Given the description of an element on the screen output the (x, y) to click on. 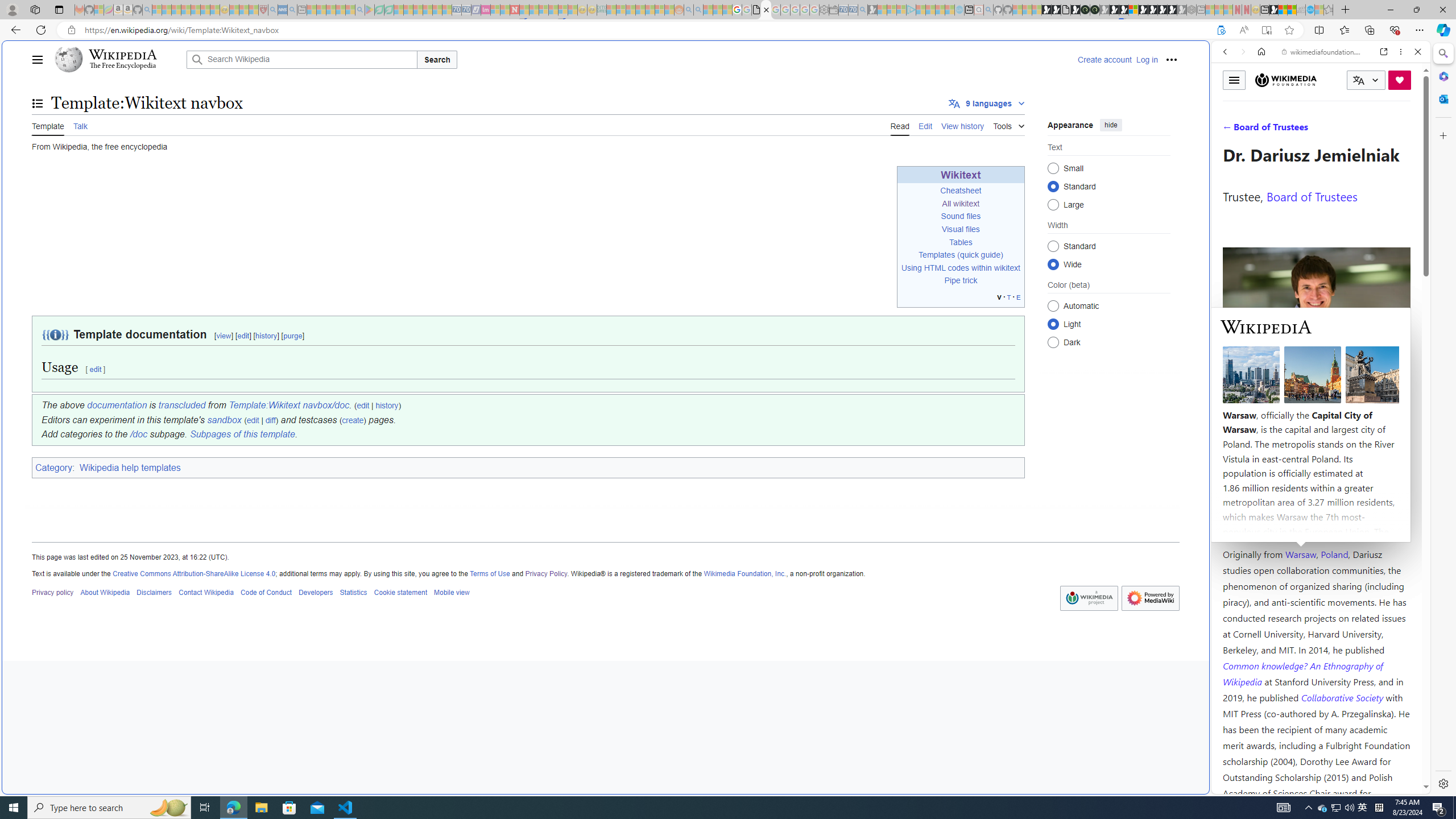
(quick guide) (979, 254)
Toggle menu (1233, 80)
Cheatsheet (960, 190)
purge (292, 335)
AutomationID: footer-poweredbyico (1150, 598)
